Given the description of an element on the screen output the (x, y) to click on. 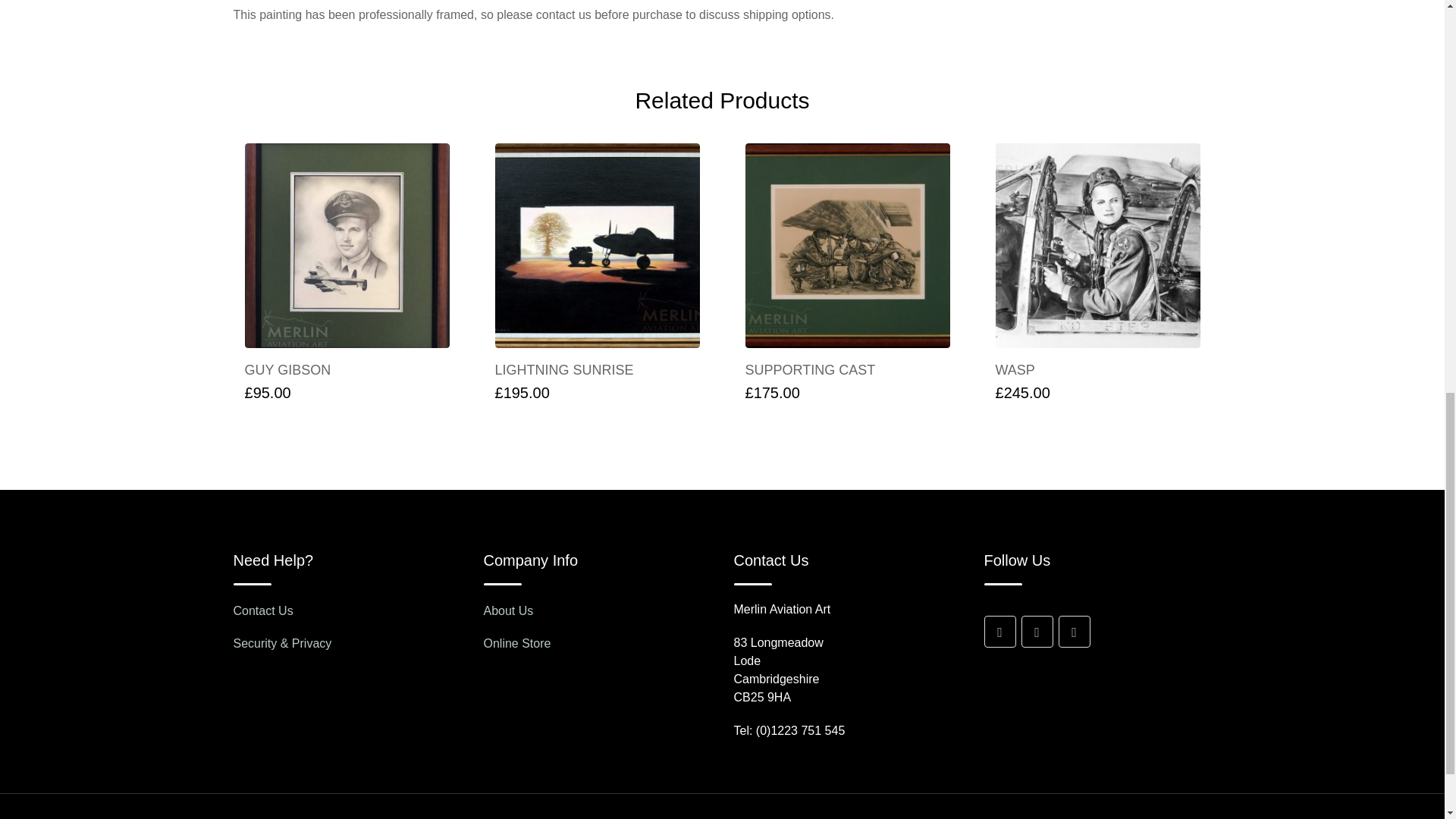
About Us (508, 610)
Contact Us (263, 610)
About Us (517, 643)
